Given the description of an element on the screen output the (x, y) to click on. 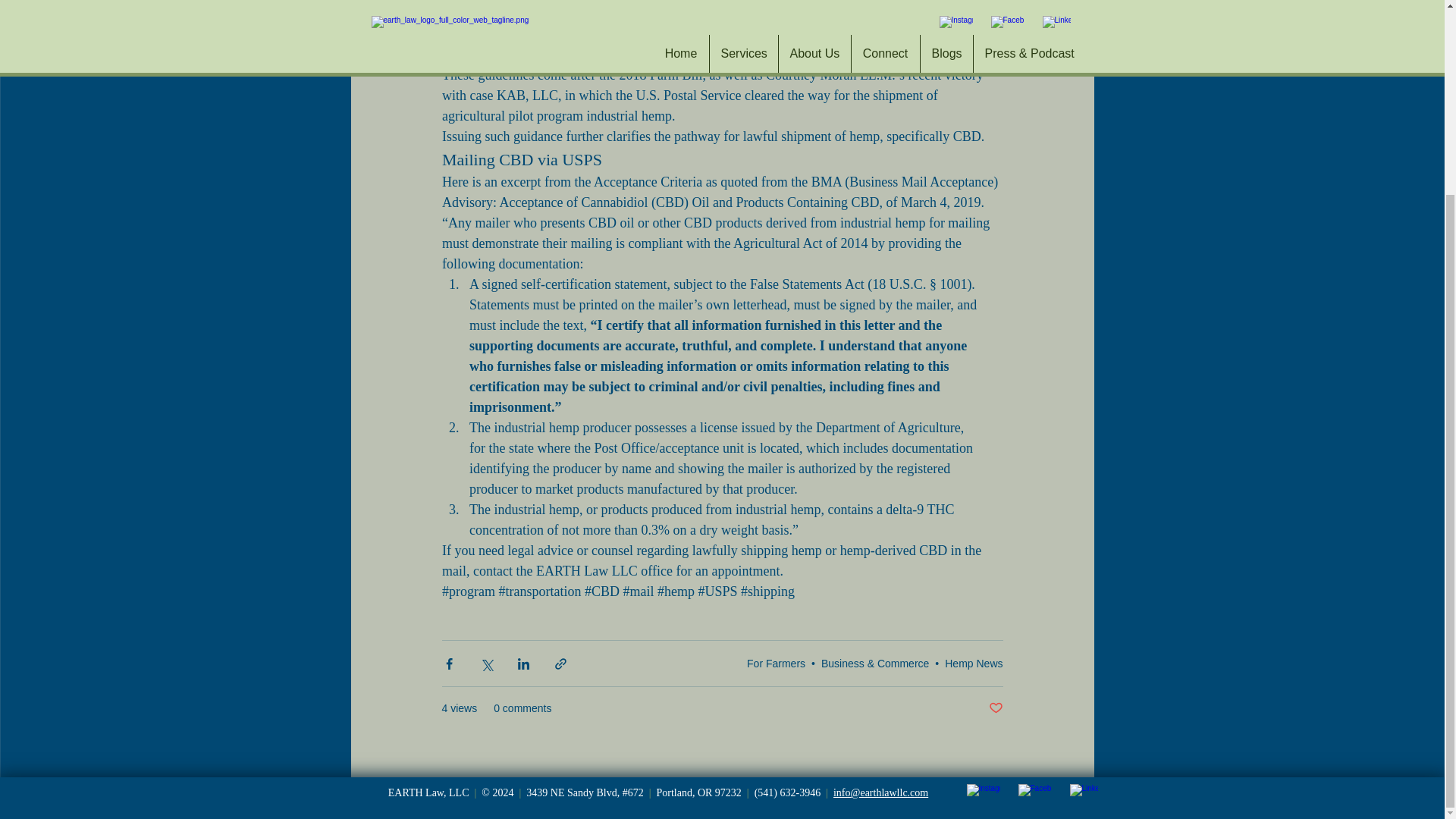
KAB, LLC (526, 95)
EARTH Law LLC office for an appointment (656, 570)
Hemp News (973, 663)
2018 Farm Bill, (662, 74)
For Farmers (775, 663)
Post not marked as liked (995, 708)
